Given the description of an element on the screen output the (x, y) to click on. 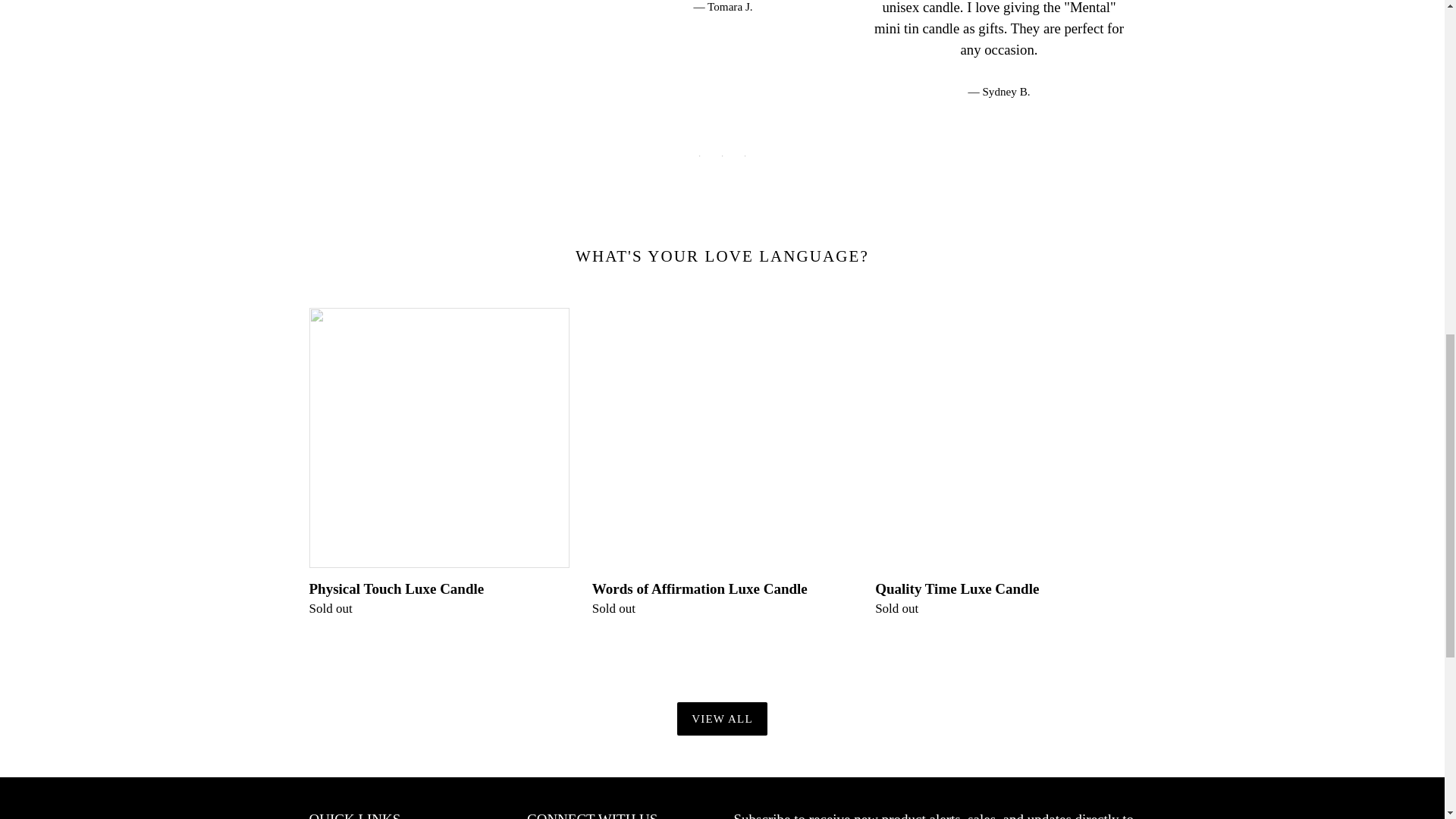
Slide 1 (698, 155)
Slide 3 (744, 155)
VIEW ALL (722, 718)
Slide 2 (721, 155)
